Given the description of an element on the screen output the (x, y) to click on. 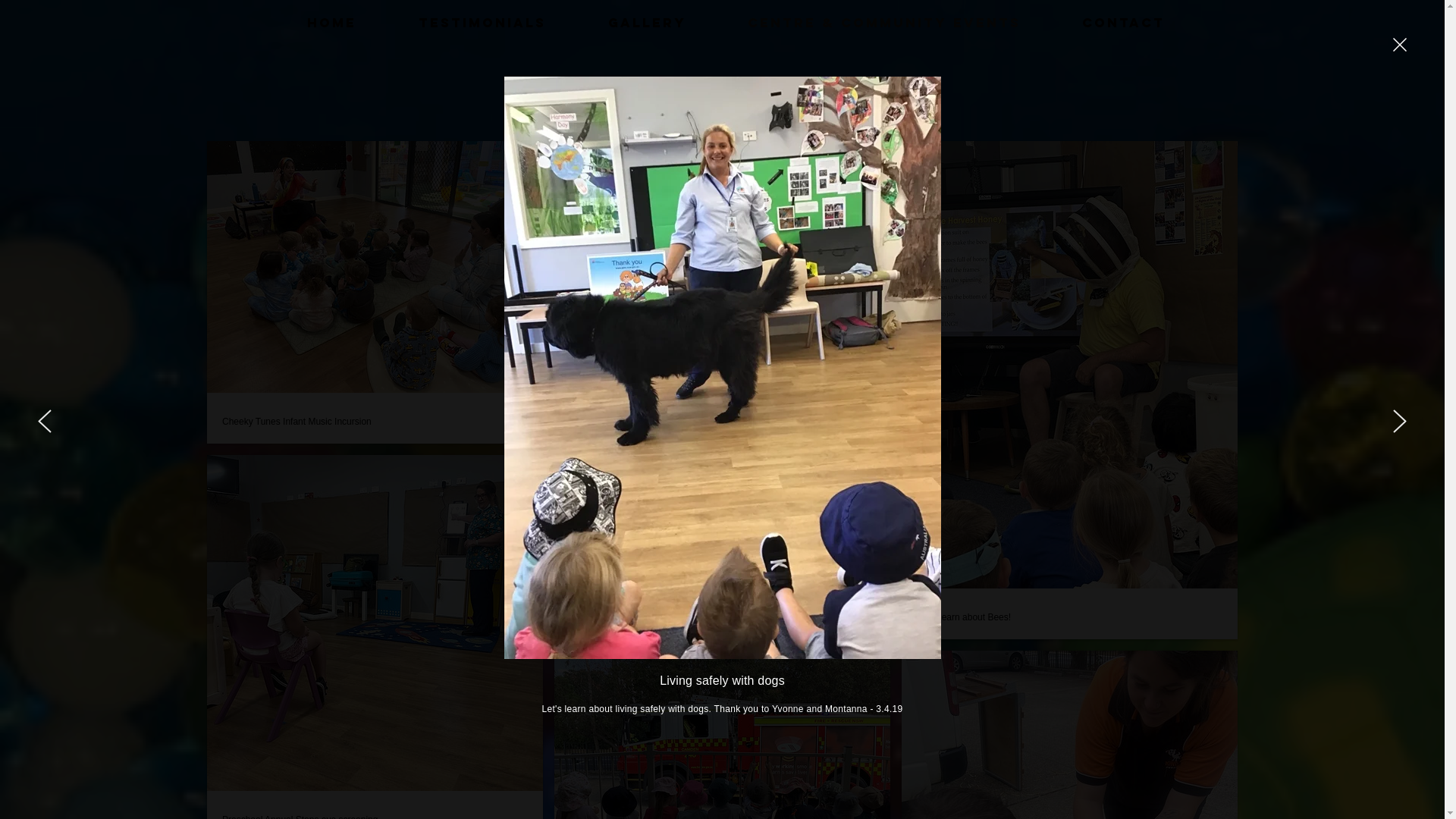
Home Element type: text (331, 22)
Testimonials Element type: text (481, 22)
CONTACT Element type: text (1123, 22)
Centre & Community Events Element type: text (884, 22)
Gallery Element type: text (646, 22)
